Given the description of an element on the screen output the (x, y) to click on. 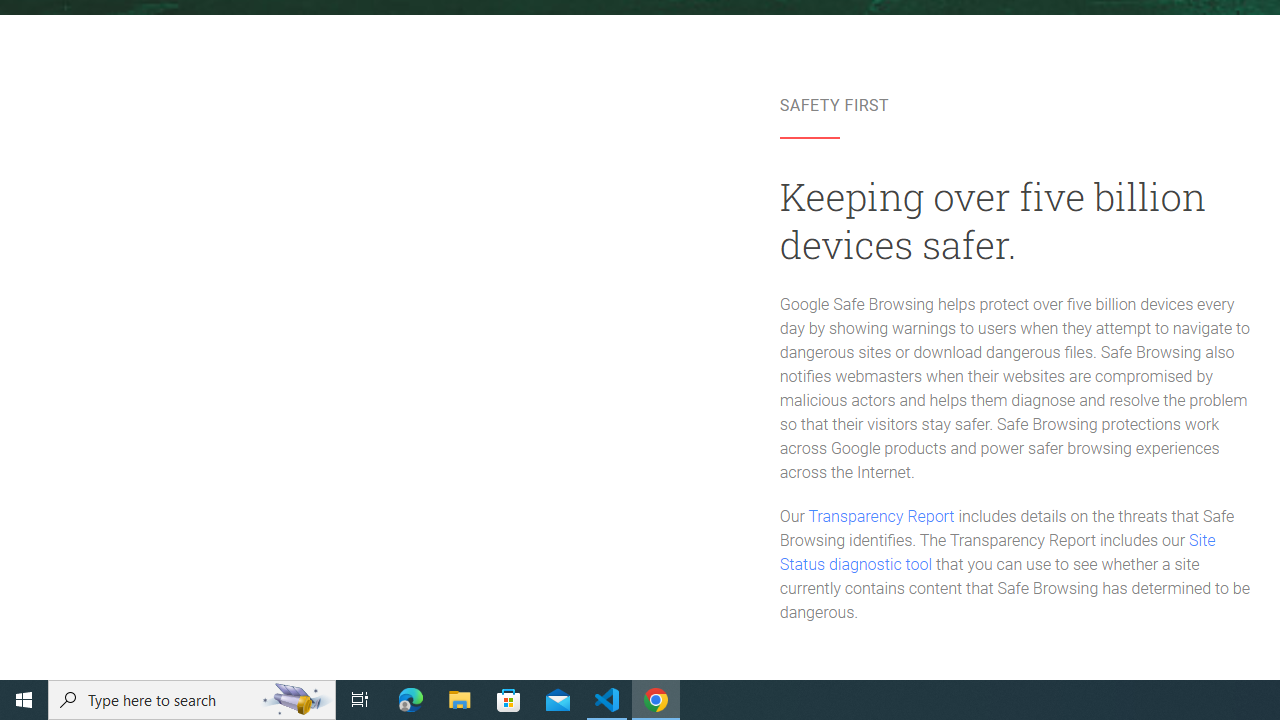
Site Status diagnostic tool (997, 553)
Transparency Report (880, 516)
